Given the description of an element on the screen output the (x, y) to click on. 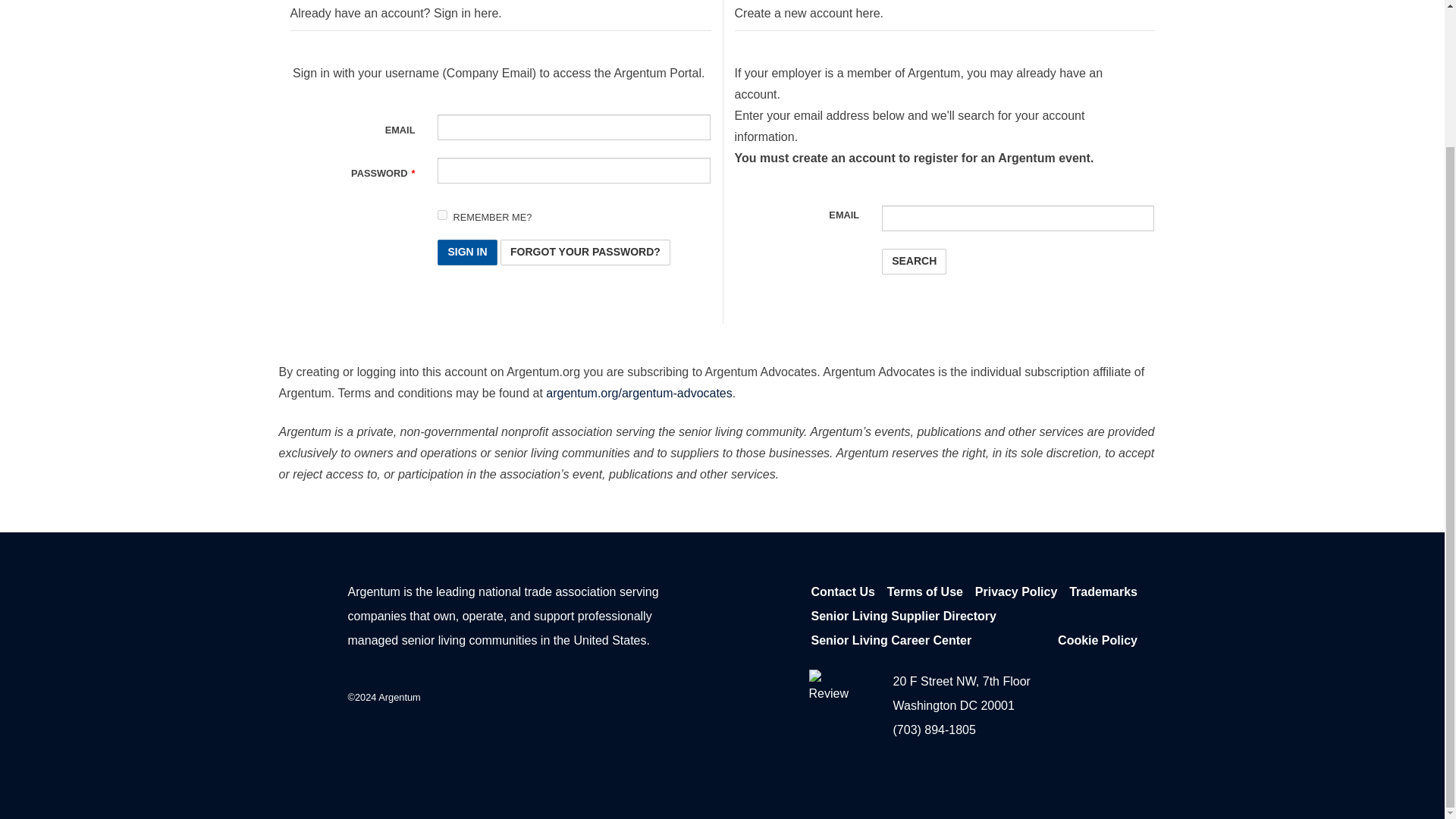
Forgot Your Password? (584, 252)
Facebook (591, 694)
Sign In (467, 252)
Terms of Use (924, 591)
FORGOT YOUR PASSWORD? (584, 252)
Senior Living Supplier Directory (903, 616)
Twitter (632, 694)
Contact Us (842, 591)
SEARCH (914, 261)
true (442, 214)
LinkedIn (549, 694)
Search (914, 261)
Cookie Policy (1097, 640)
YouTube (674, 694)
SIGN IN (467, 252)
